Given the description of an element on the screen output the (x, y) to click on. 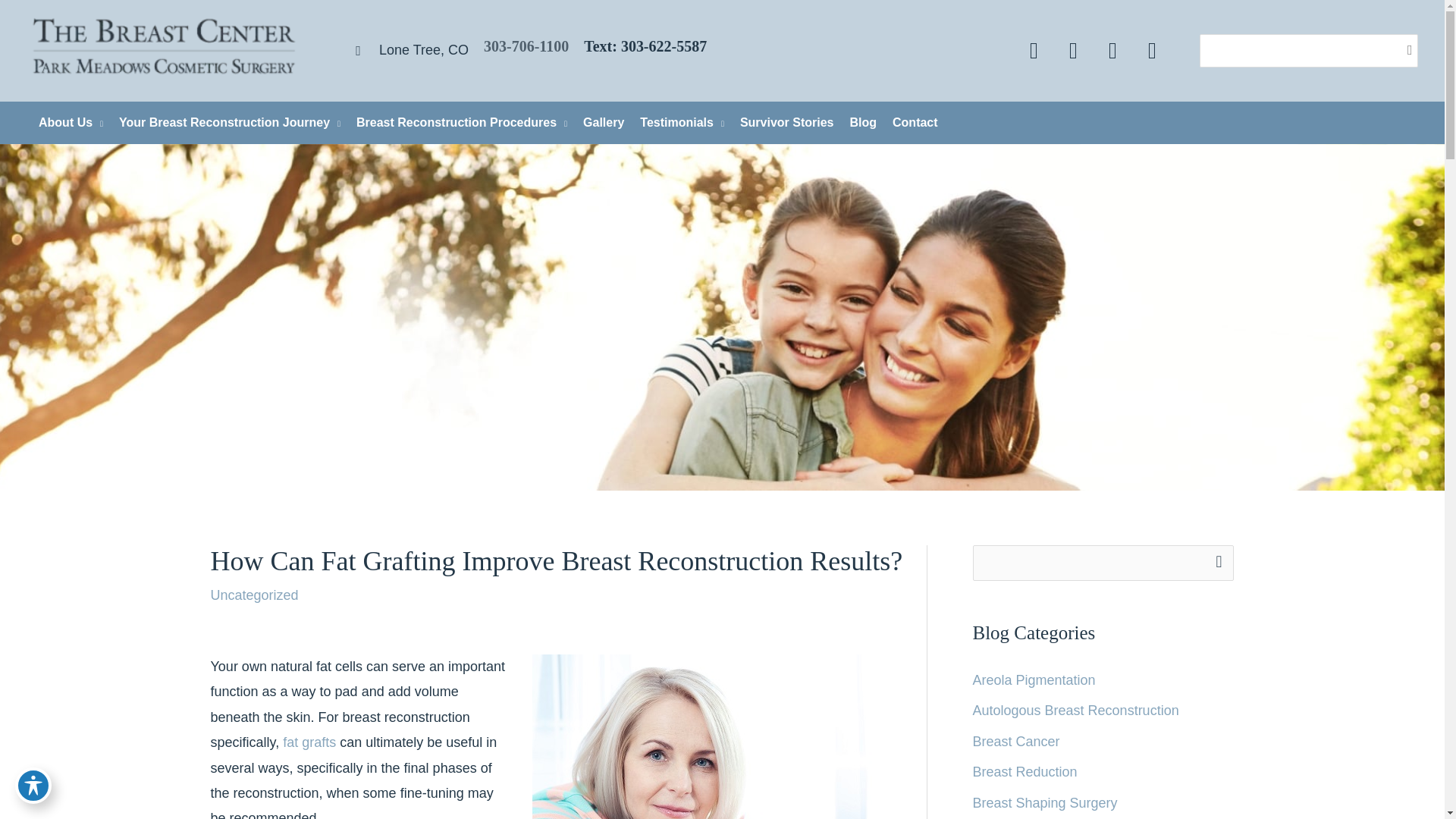
303-706-1100 (526, 45)
303-622-5587 (663, 45)
Breast Reconstruction Procedures (456, 122)
Your Breast Reconstruction Journey (224, 122)
Lone Tree, CO (404, 49)
About Us (66, 122)
